Given the description of an element on the screen output the (x, y) to click on. 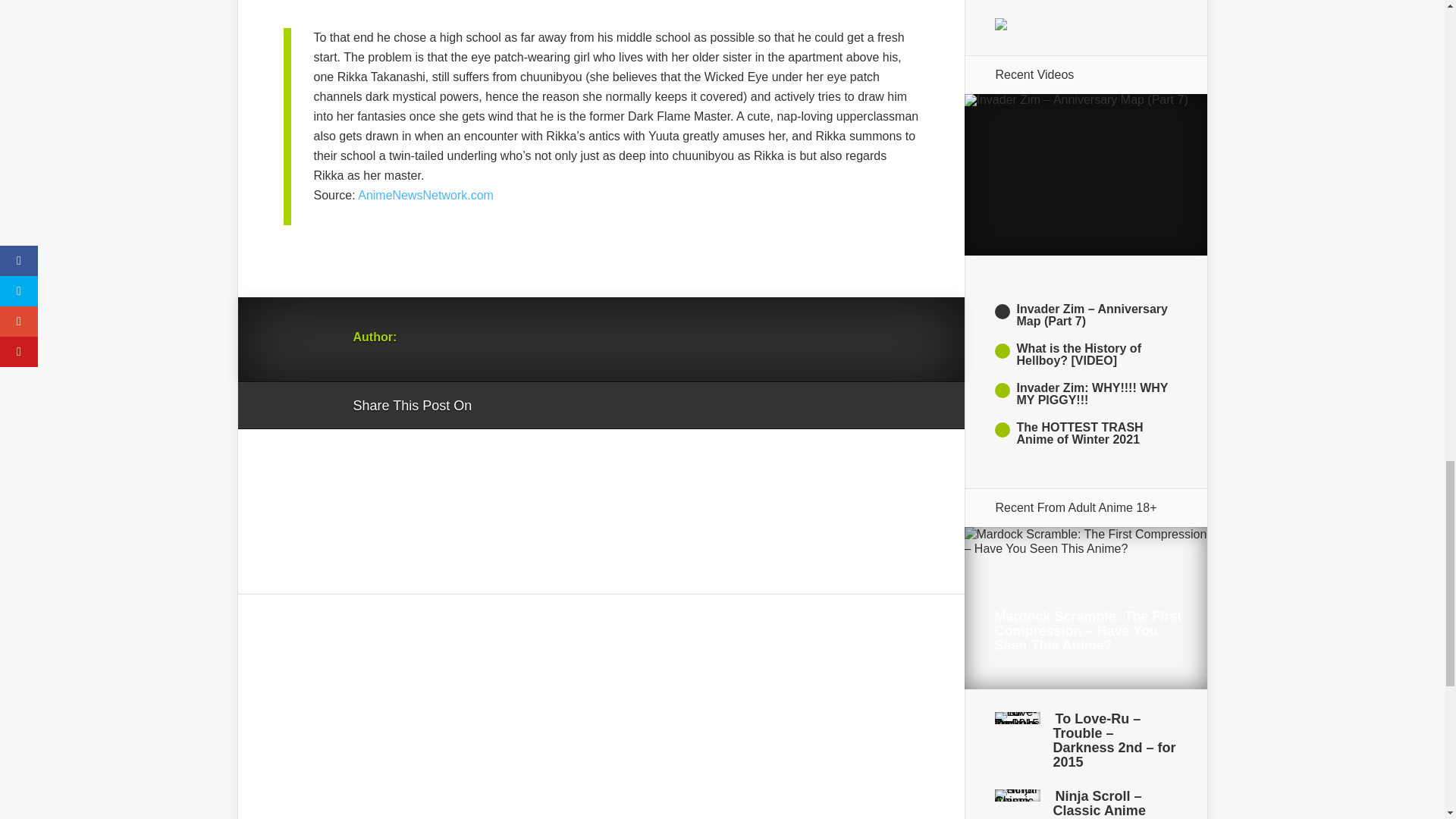
Previous (1085, 265)
Twitter (555, 405)
Google (498, 405)
Next (1085, 476)
AnimeNewsNetwork.com (425, 195)
Facebook (526, 405)
Next (1085, 476)
Previous (1085, 265)
